Given the description of an element on the screen output the (x, y) to click on. 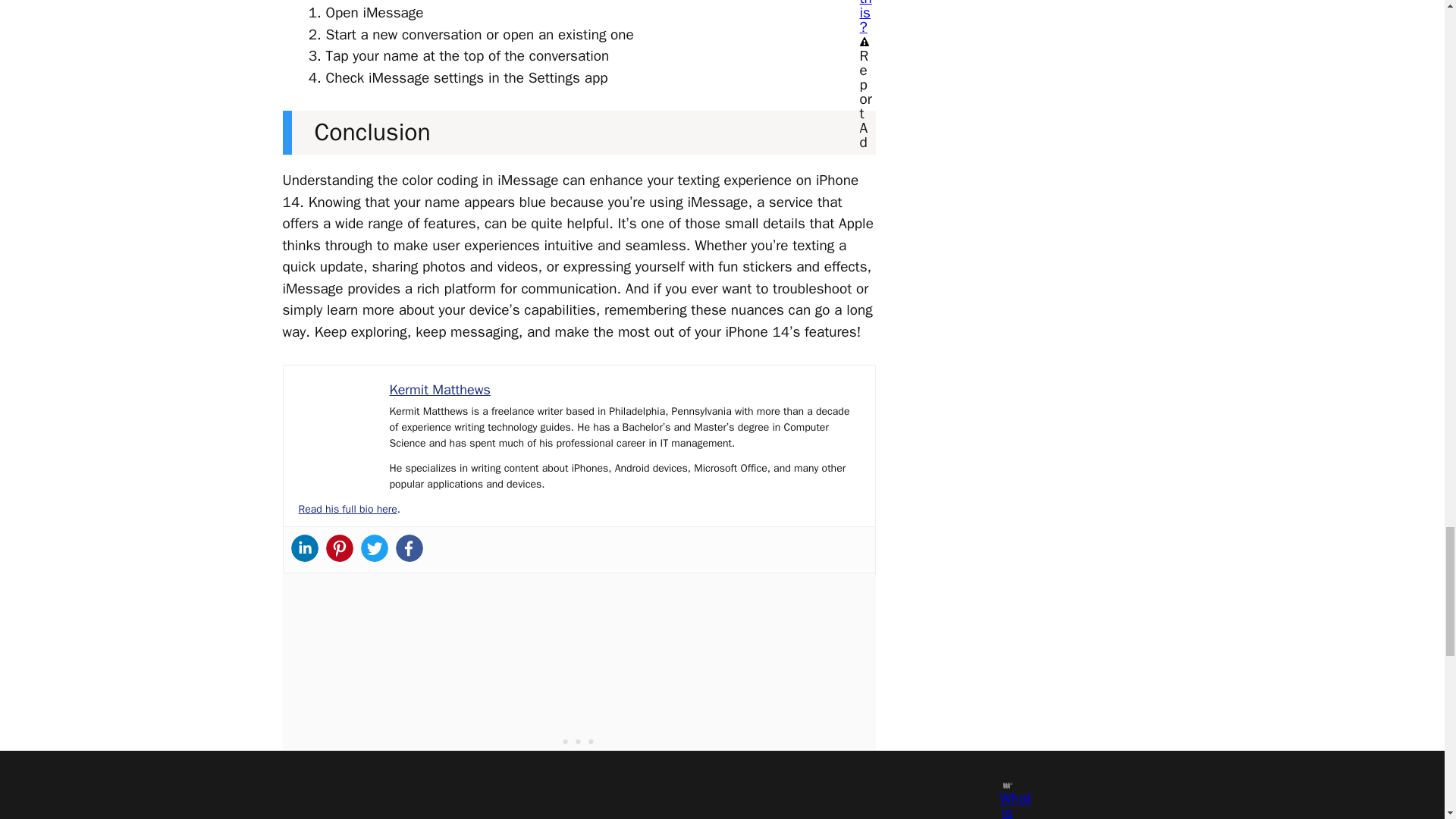
Kermit Matthews (440, 389)
Read his full bio here (347, 508)
